Given the description of an element on the screen output the (x, y) to click on. 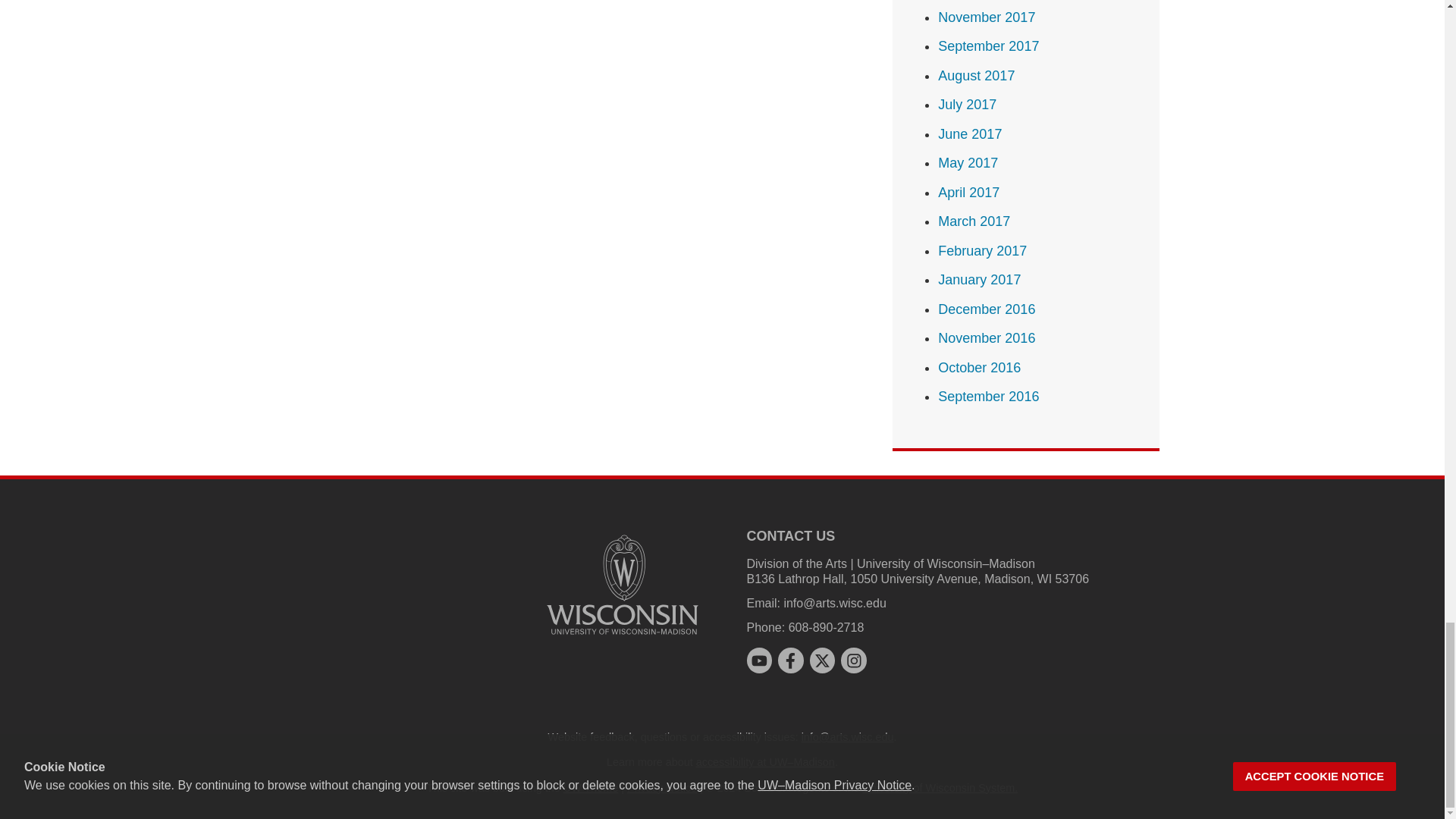
facebook (790, 660)
x twitter (821, 660)
youtube (759, 660)
instagram (853, 660)
University logo that links to main university website (621, 584)
